Given the description of an element on the screen output the (x, y) to click on. 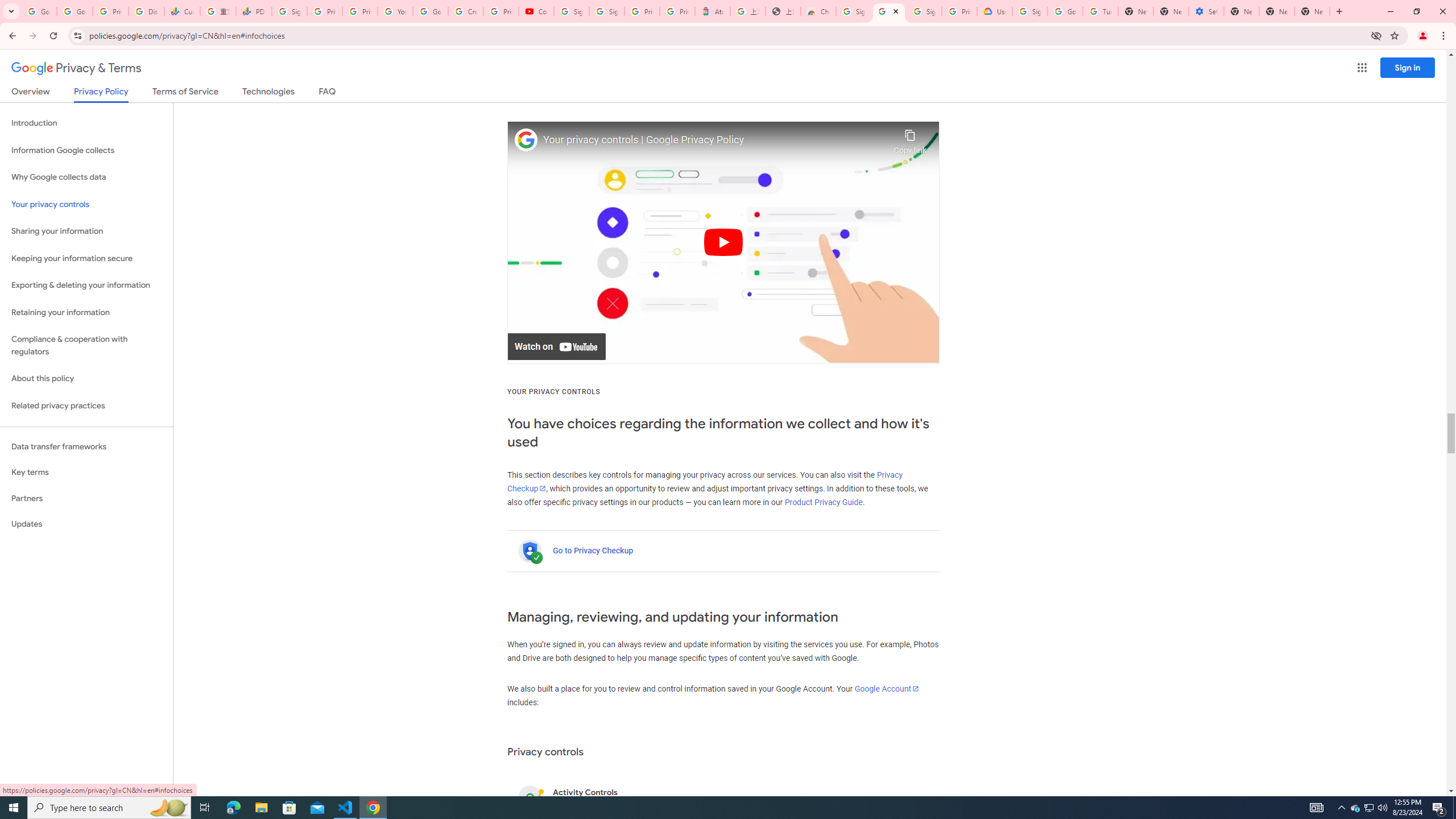
Google Account Help (429, 11)
Exporting & deleting your information (86, 284)
About this policy (86, 379)
Create your Google Account (465, 11)
Chrome Web Store - Color themes by Chrome (817, 11)
Your privacy controls (86, 204)
Sign in - Google Accounts (923, 11)
